Given the description of an element on the screen output the (x, y) to click on. 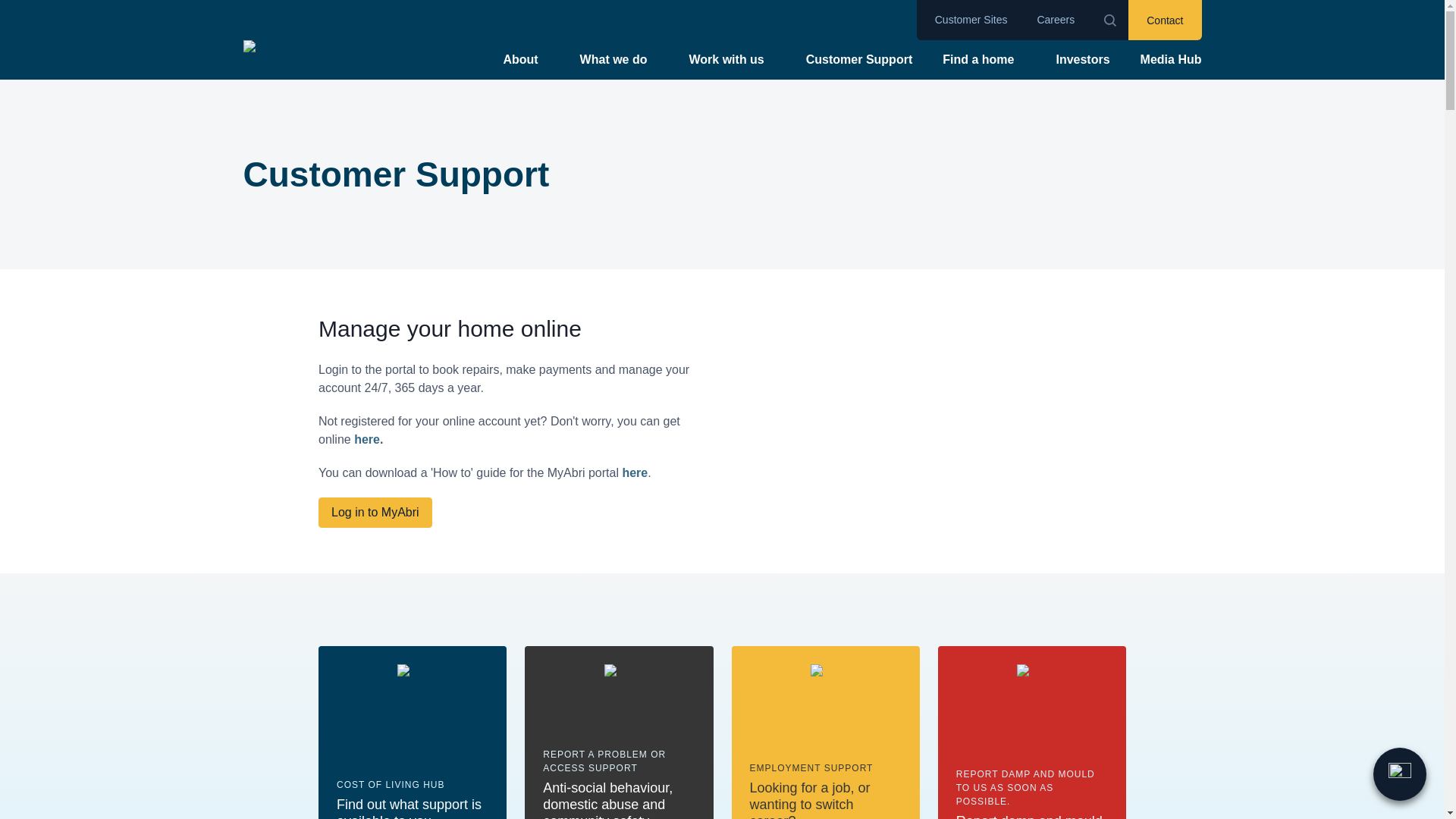
here (366, 439)
Investors (412, 732)
here (1082, 59)
Contact (634, 473)
Media Hub (1164, 20)
Customer Support (1171, 59)
Search (858, 59)
Log in to MyAbri (1107, 20)
